Given the description of an element on the screen output the (x, y) to click on. 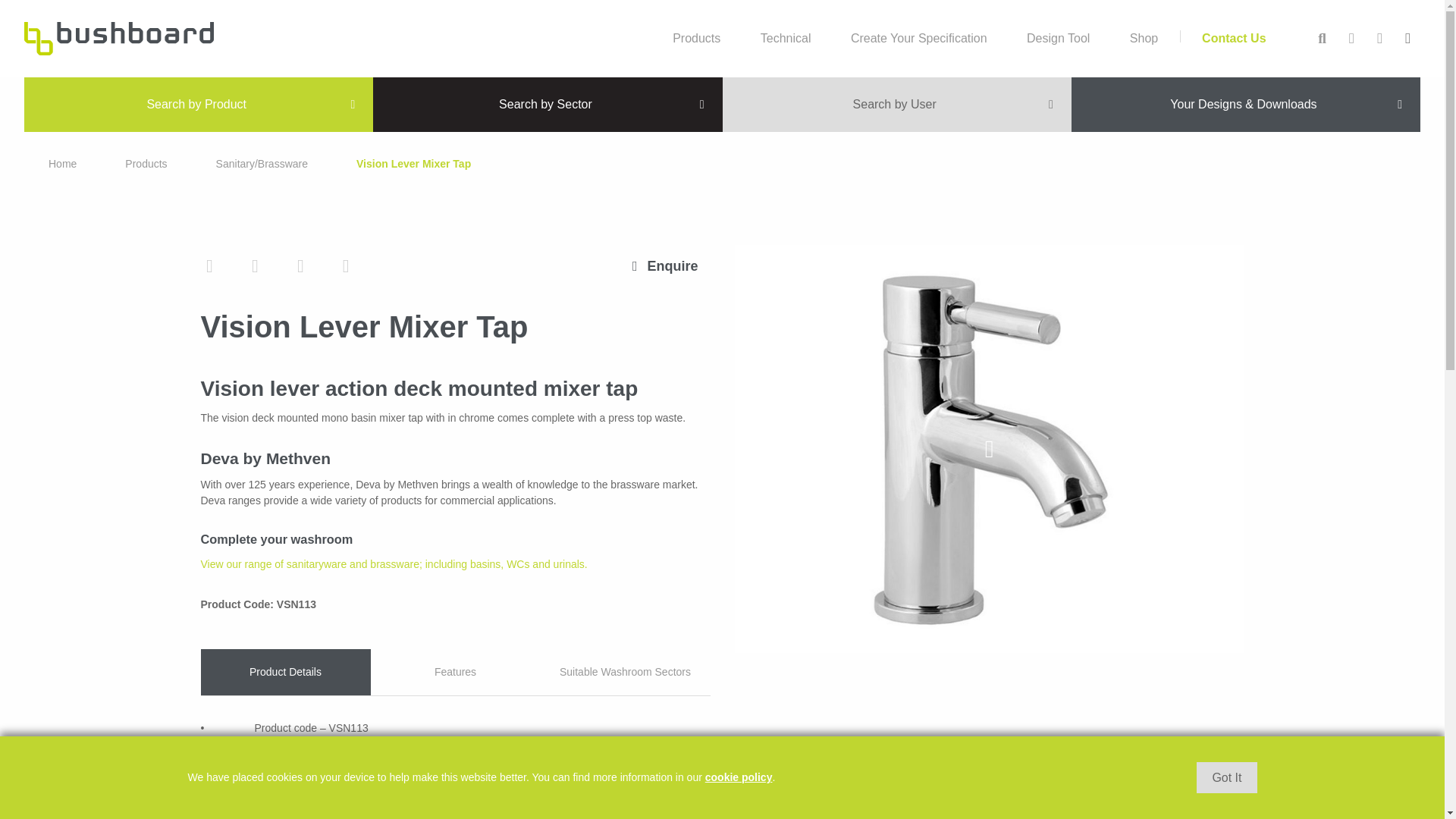
Products (145, 163)
Contact Us (1233, 38)
Design Tool (1058, 38)
Search by User (896, 103)
Share on Facebook (254, 265)
Share on Pinterest (300, 265)
cookie policy (738, 776)
Share on Twitter (208, 265)
Search by Sector (547, 103)
Shop (1144, 38)
Technical (785, 38)
Sanitaryware and Brassware (393, 563)
Search by Product (198, 103)
Share (345, 265)
Create Your Specification (919, 38)
